Given the description of an element on the screen output the (x, y) to click on. 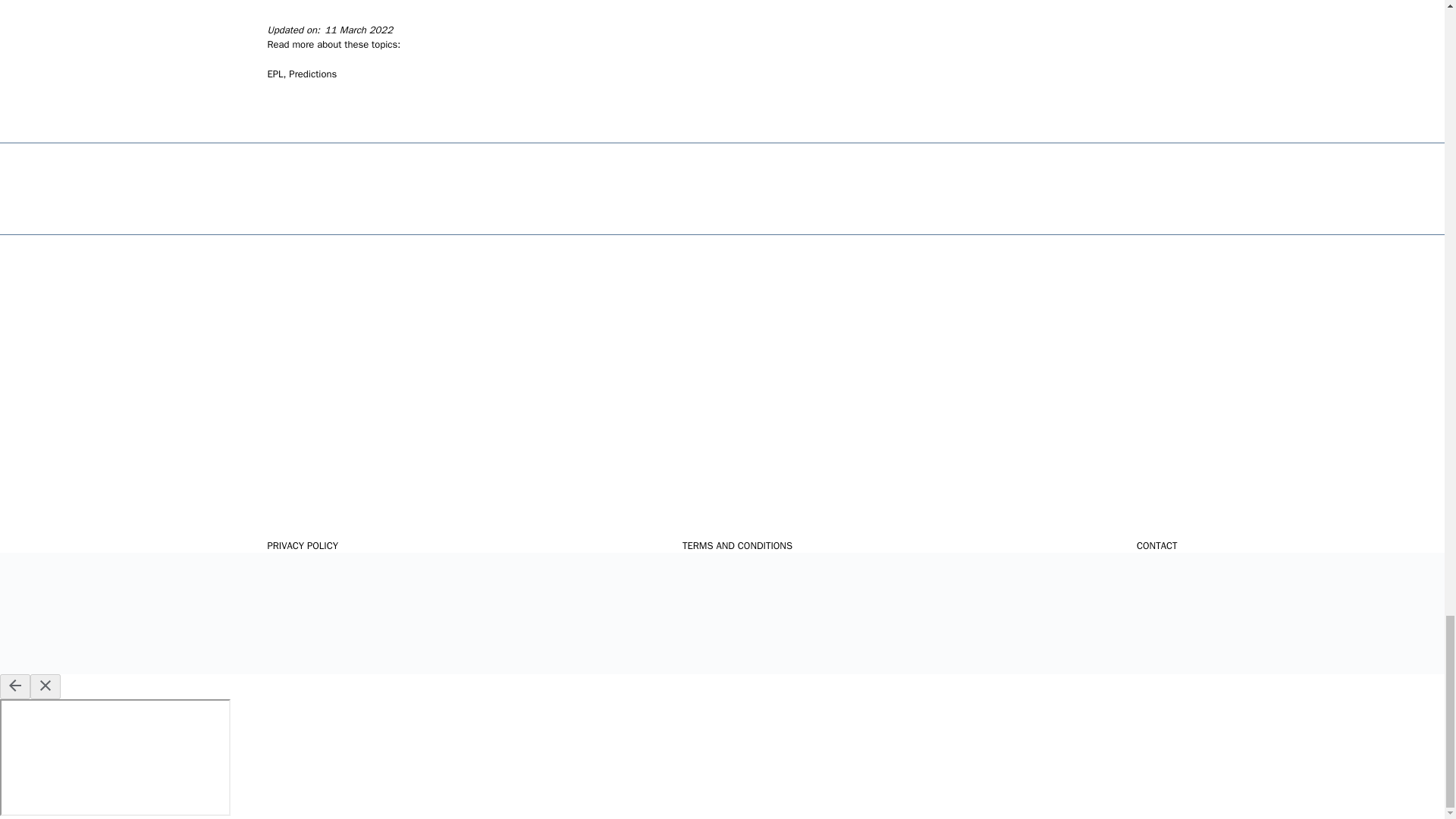
CONTACT (1157, 545)
EPL (274, 73)
TERMS AND CONDITIONS (737, 545)
PRIVACY POLICY (301, 545)
Predictions (312, 73)
